Given the description of an element on the screen output the (x, y) to click on. 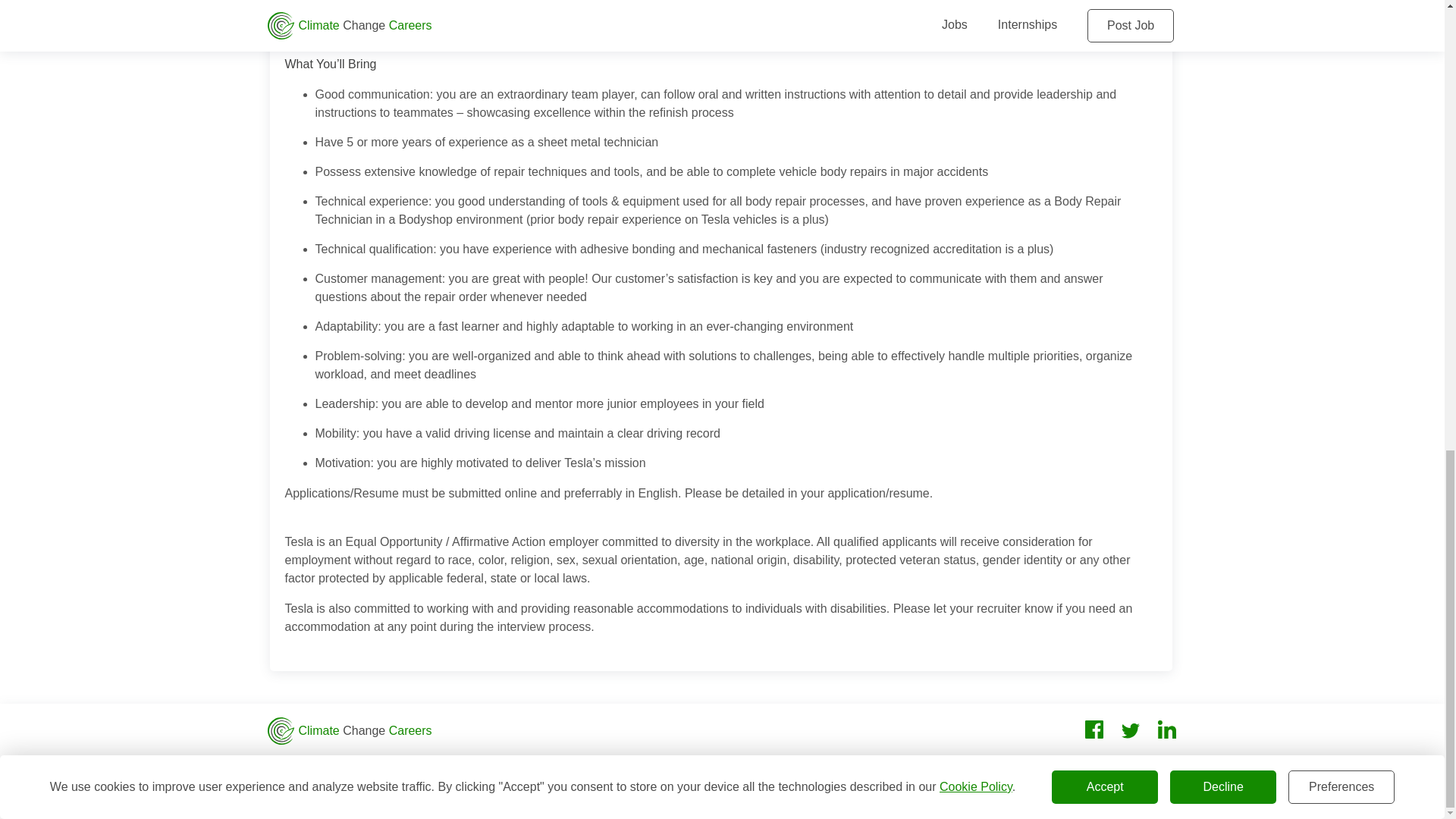
About Us (459, 767)
Post Job (290, 767)
Climate Change Careers (348, 730)
Acceptable Use (765, 767)
Contact Us (374, 767)
Privacy (597, 767)
Terms (531, 767)
Cookies (671, 767)
